Given the description of an element on the screen output the (x, y) to click on. 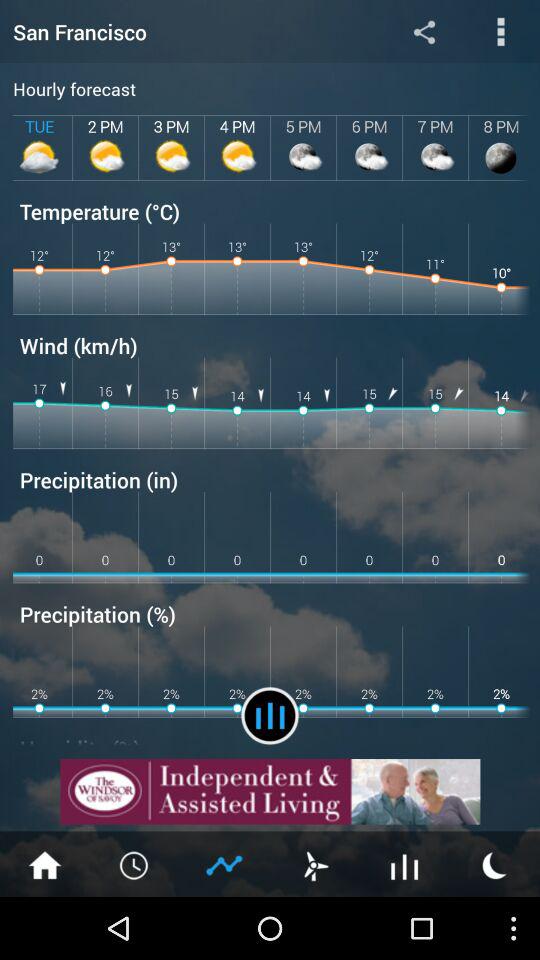
share the information (424, 31)
